Given the description of an element on the screen output the (x, y) to click on. 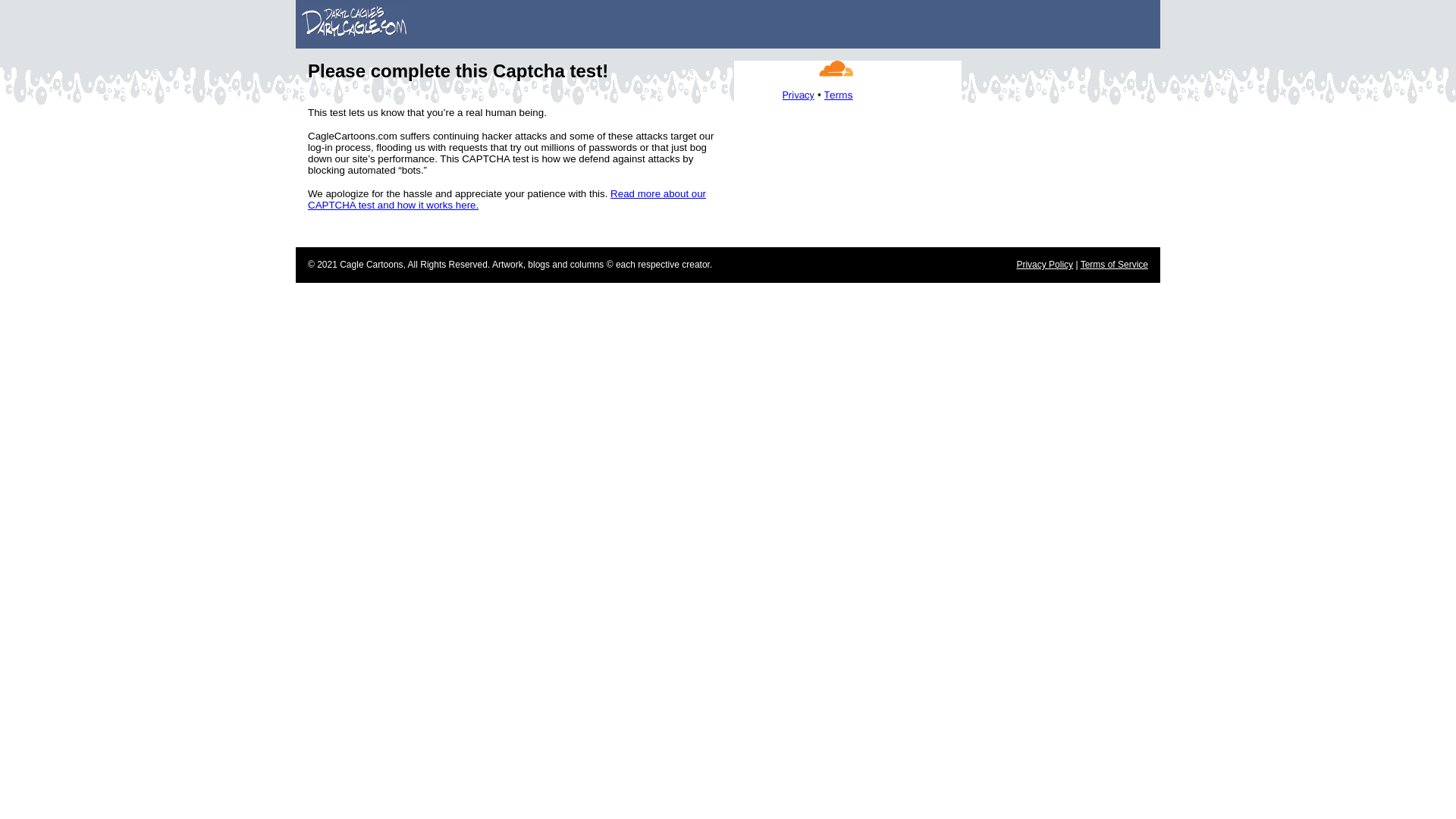
Privacy Policy (1044, 264)
Read more about our CAPTCHA test and how it works here. (506, 199)
Terms of Service (1114, 264)
